Given the description of an element on the screen output the (x, y) to click on. 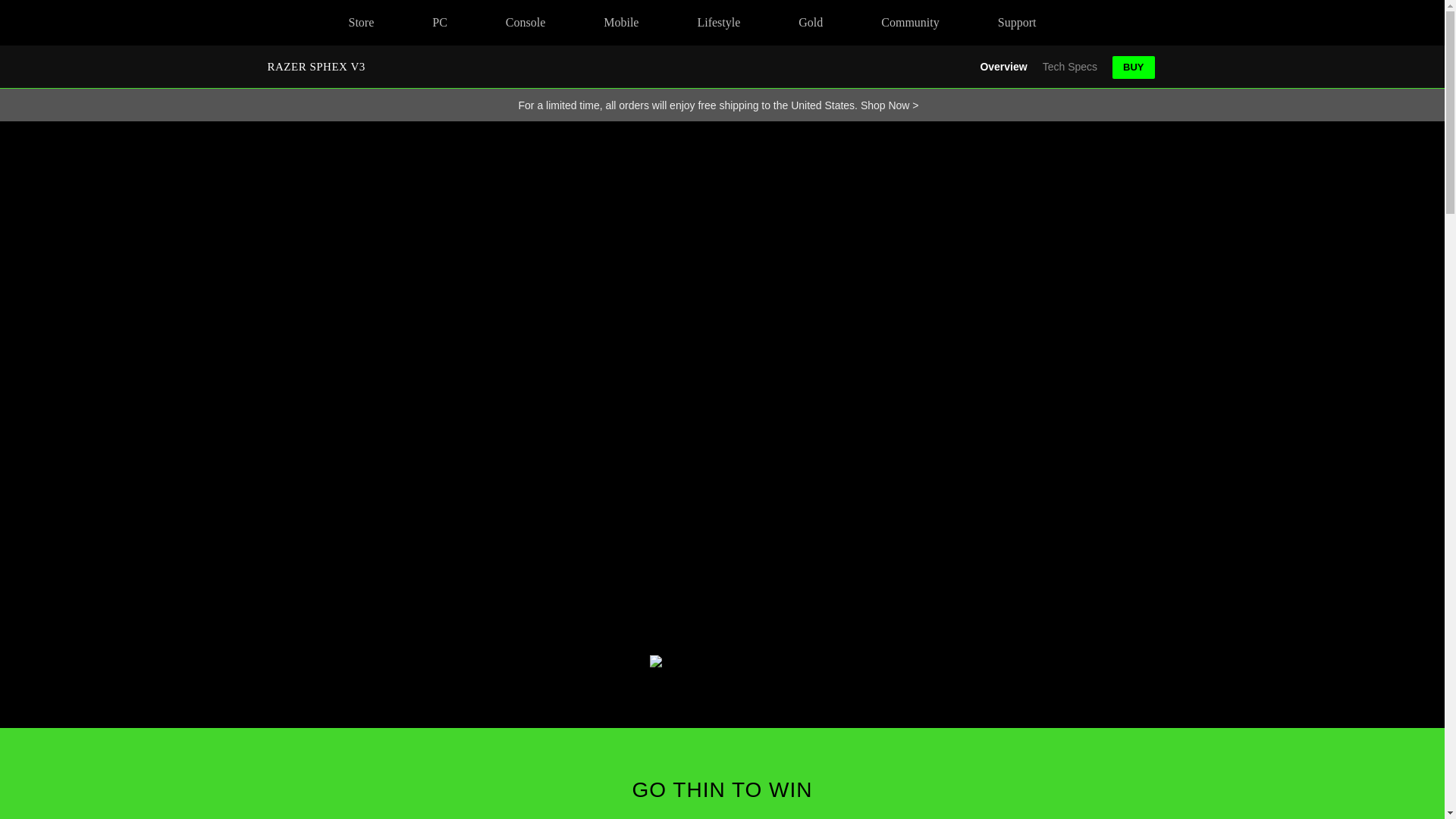
Store (360, 22)
